Given the description of an element on the screen output the (x, y) to click on. 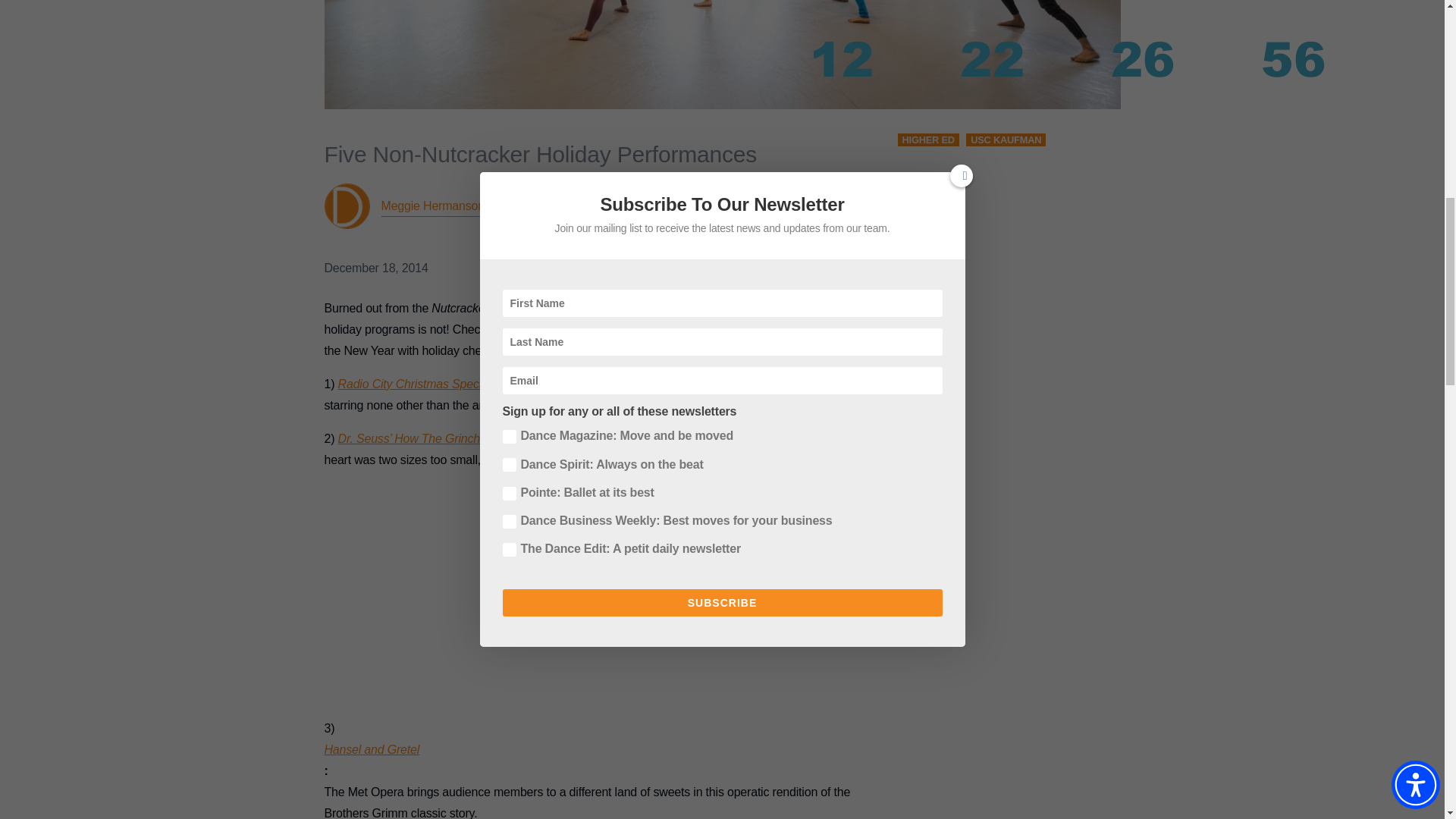
3rd party ad content (602, 580)
Share on Twitter (748, 235)
Share on Pinterest (824, 235)
Share on LinkedIn (786, 235)
Share by Email (861, 235)
Share on Facebook (710, 235)
